Given the description of an element on the screen output the (x, y) to click on. 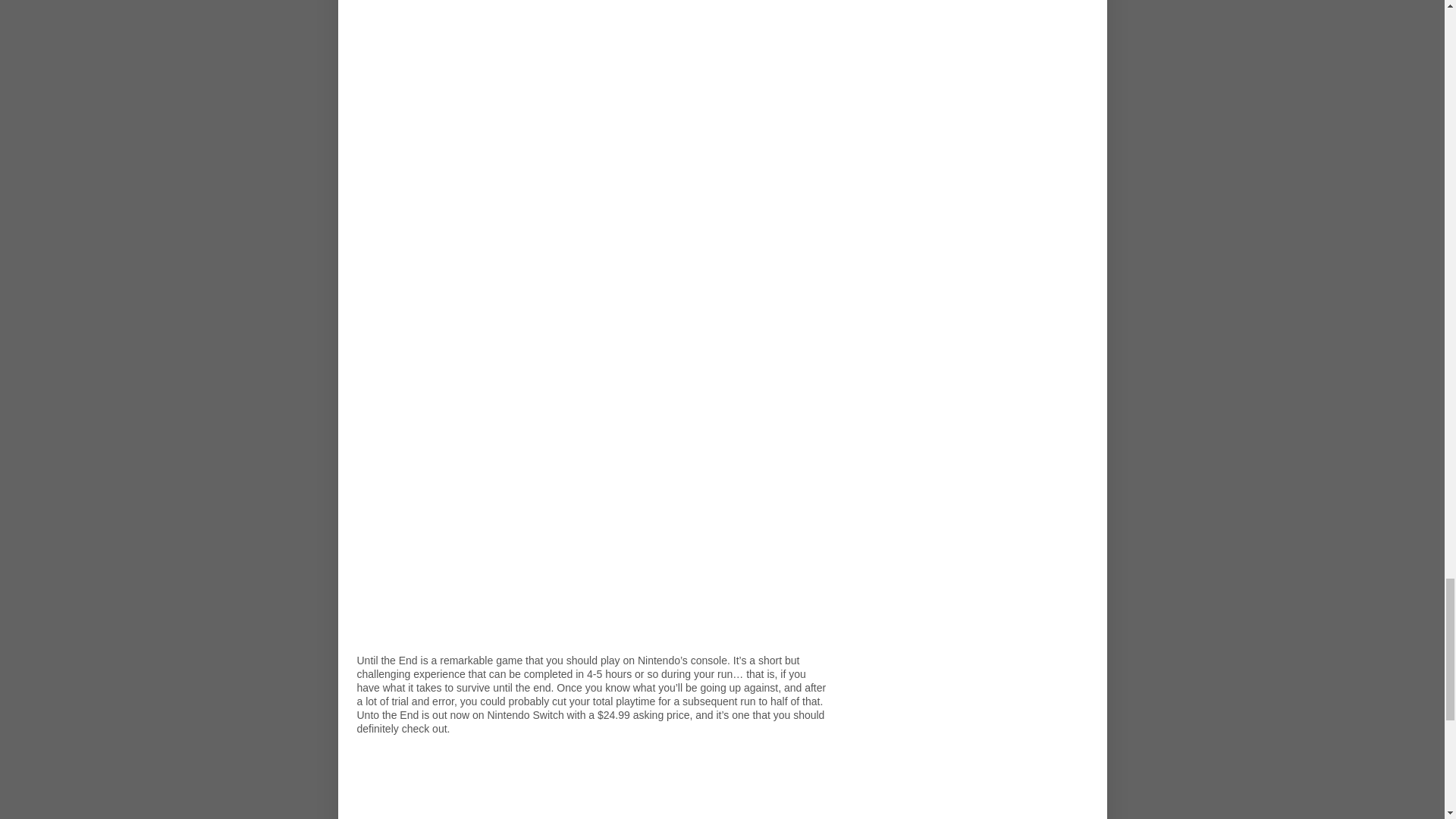
Advertisement (592, 75)
